Given the description of an element on the screen output the (x, y) to click on. 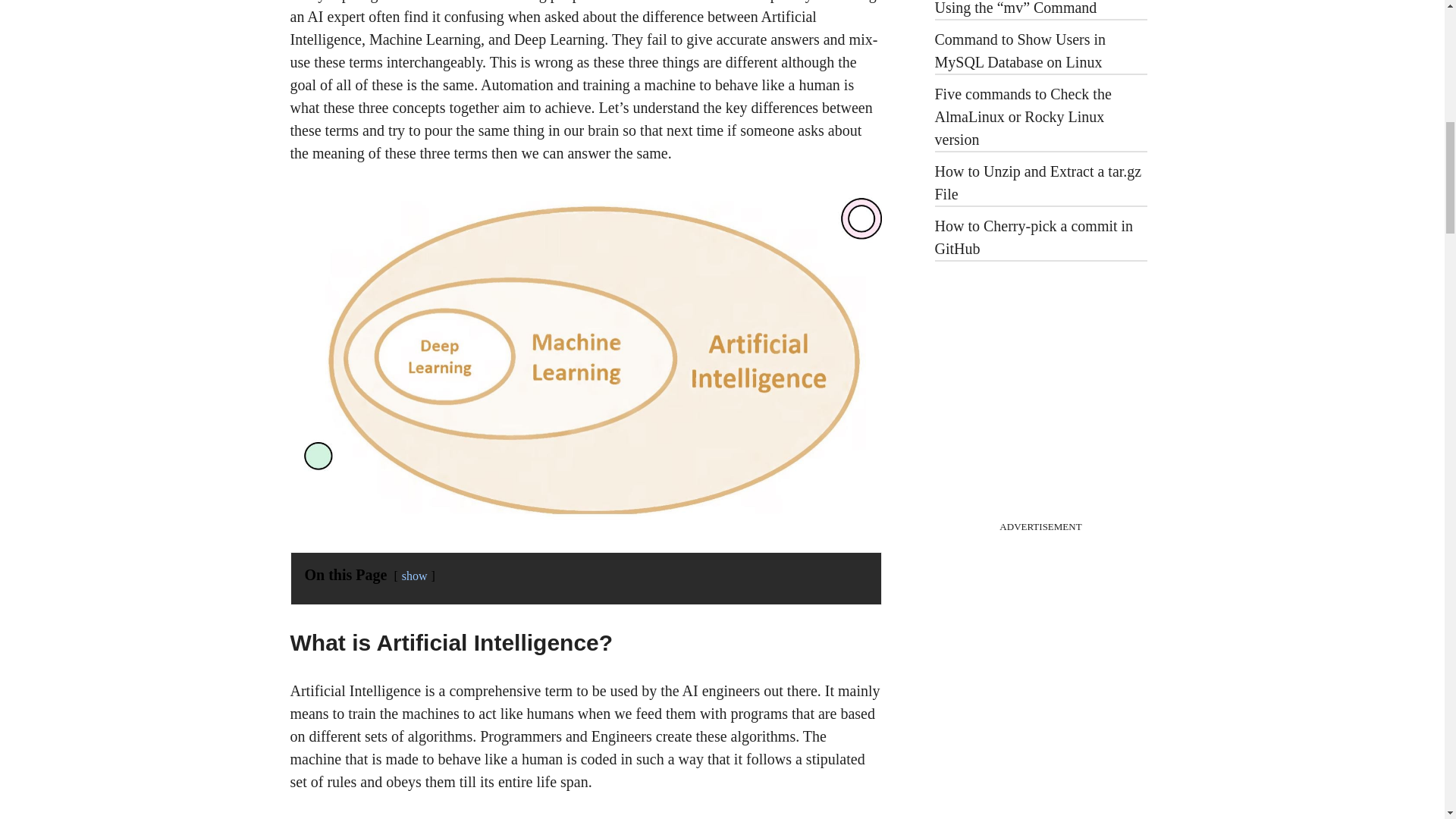
show (414, 575)
Scroll back to top (1406, 720)
